Given the description of an element on the screen output the (x, y) to click on. 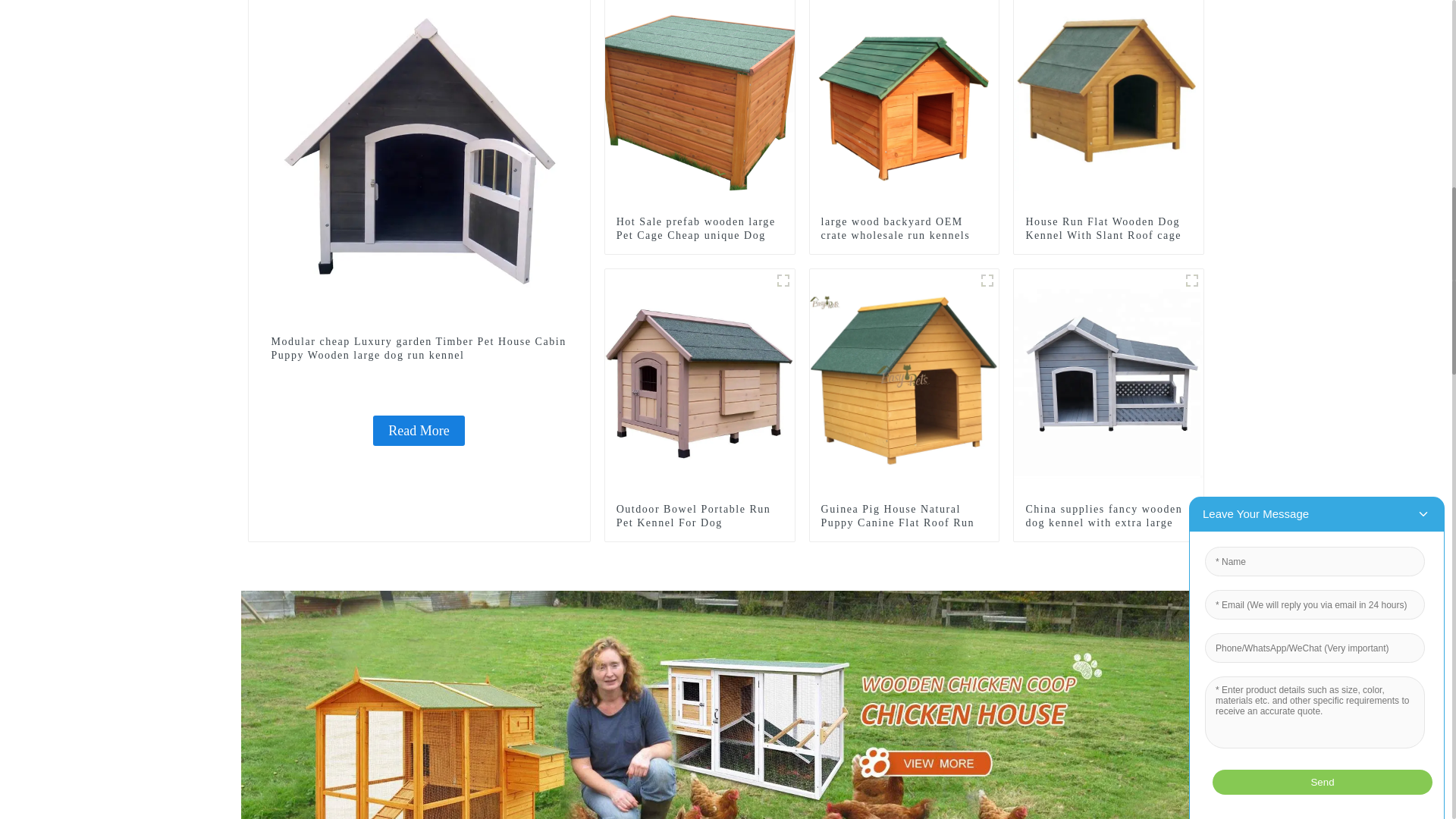
House Run Flat Wooden Dog Kennel With Slant Roof cage (1108, 94)
Outdoor Bowel Portable Run Pet Kennel For Dog  (699, 382)
Read More (418, 430)
House Run Flat Wooden Dog Kennel With Slant Roof cage (1108, 228)
EYD005 (782, 280)
